Given the description of an element on the screen output the (x, y) to click on. 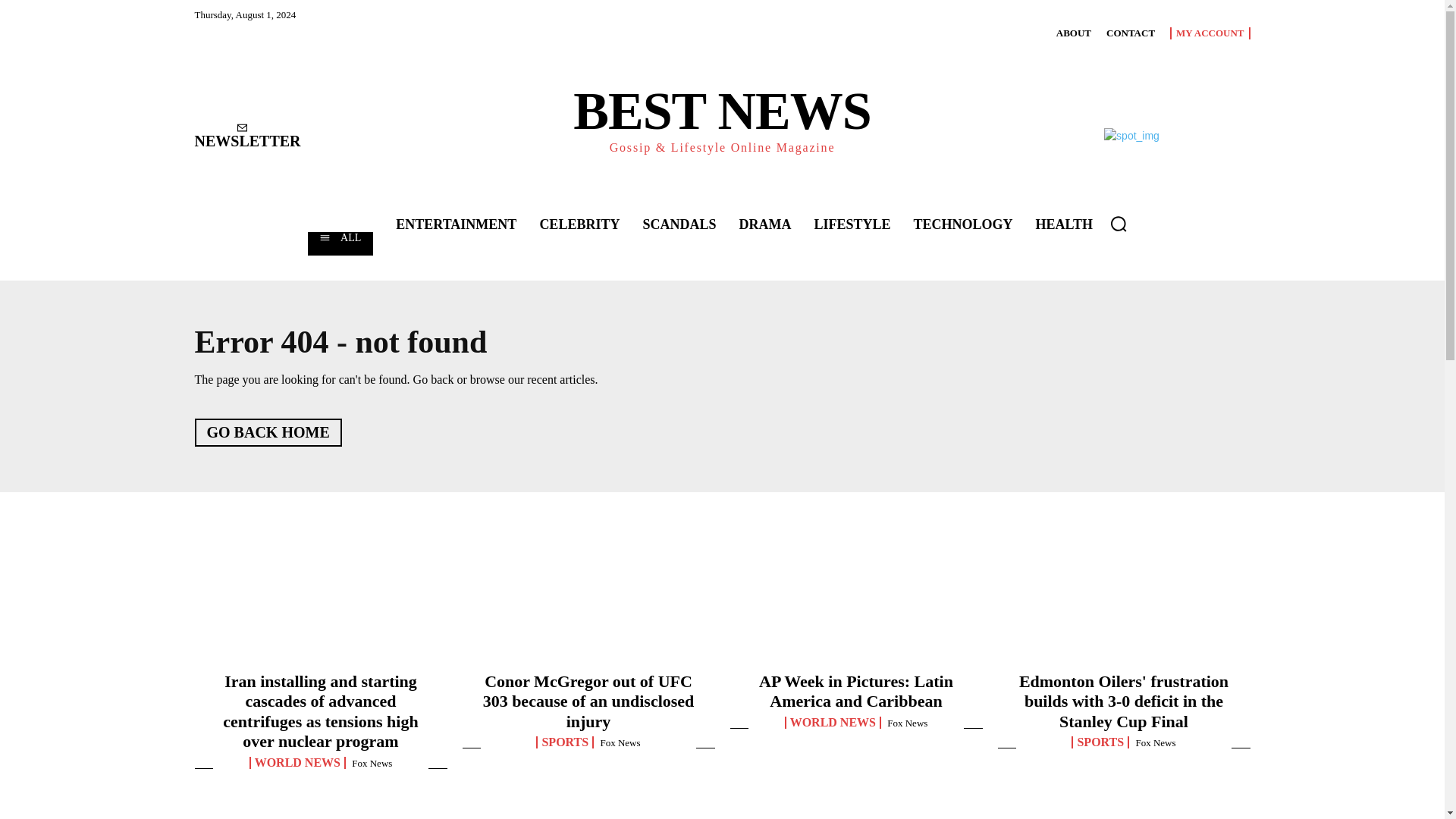
ALL (339, 243)
Newsletter (246, 135)
NEWSLETTER (246, 135)
All (339, 243)
CONTACT (1130, 33)
ABOUT (1073, 33)
